Given the description of an element on the screen output the (x, y) to click on. 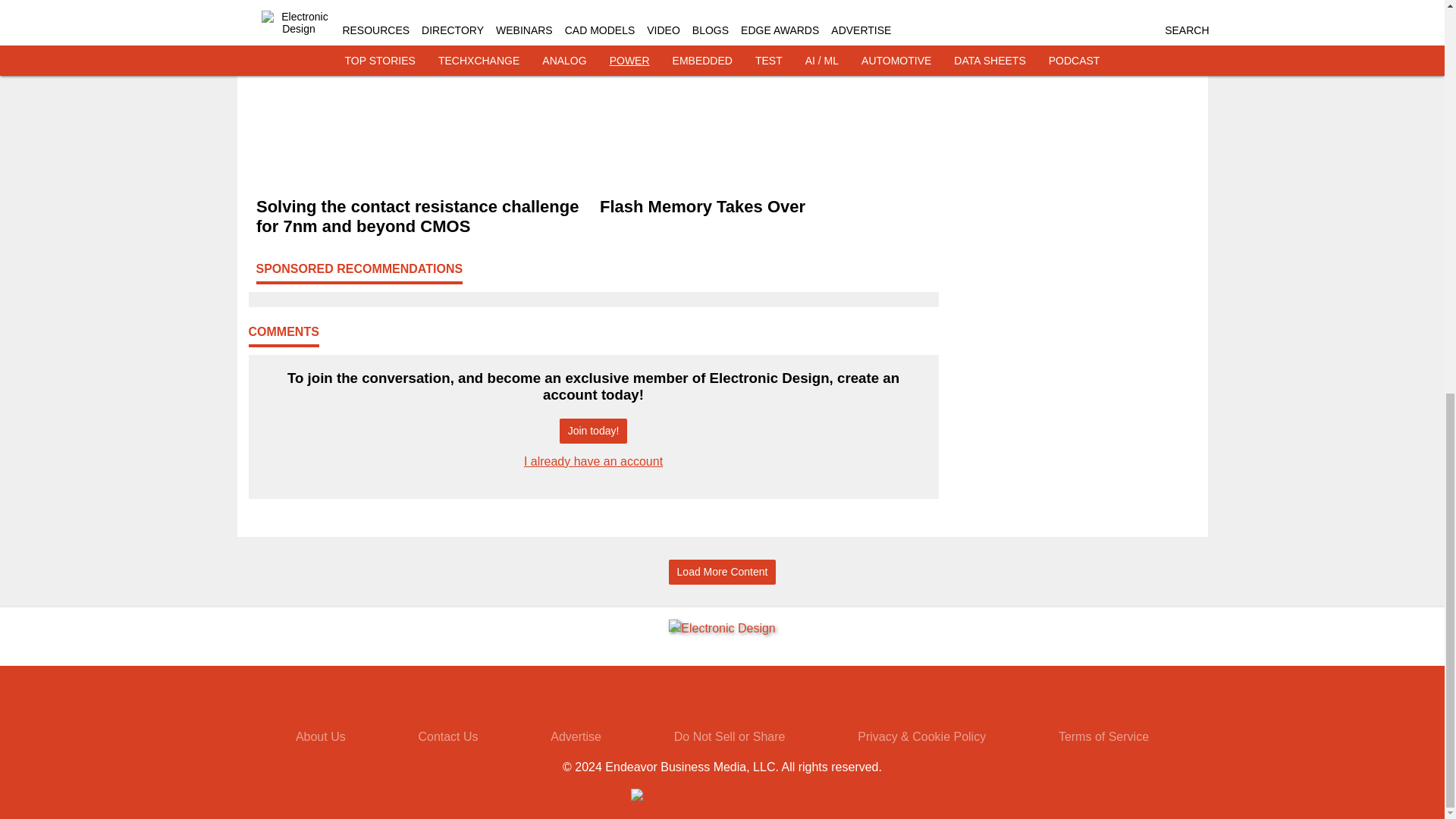
I already have an account (593, 461)
Flash Memory Takes Over (764, 207)
Join today! (593, 430)
